Given the description of an element on the screen output the (x, y) to click on. 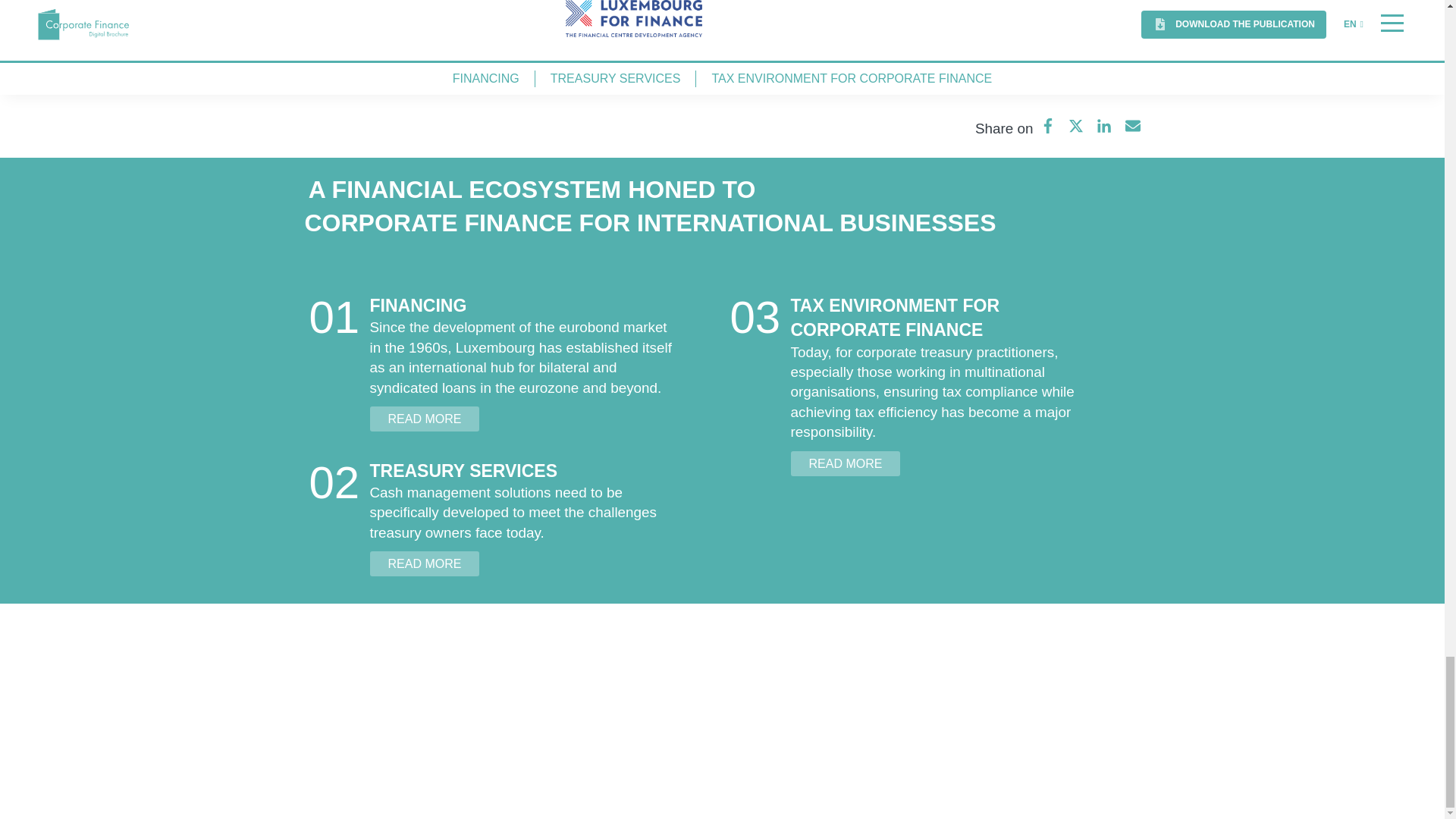
Get in touch (757, 676)
READ MORE (844, 463)
READ MORE (424, 418)
DOWNLOAD THE PUBLICATION (722, 67)
Disclaimer (510, 745)
Privacy notice (520, 722)
About us (505, 676)
Links (495, 768)
READ MORE (424, 563)
Corporate Social Responsibility (571, 699)
